Given the description of an element on the screen output the (x, y) to click on. 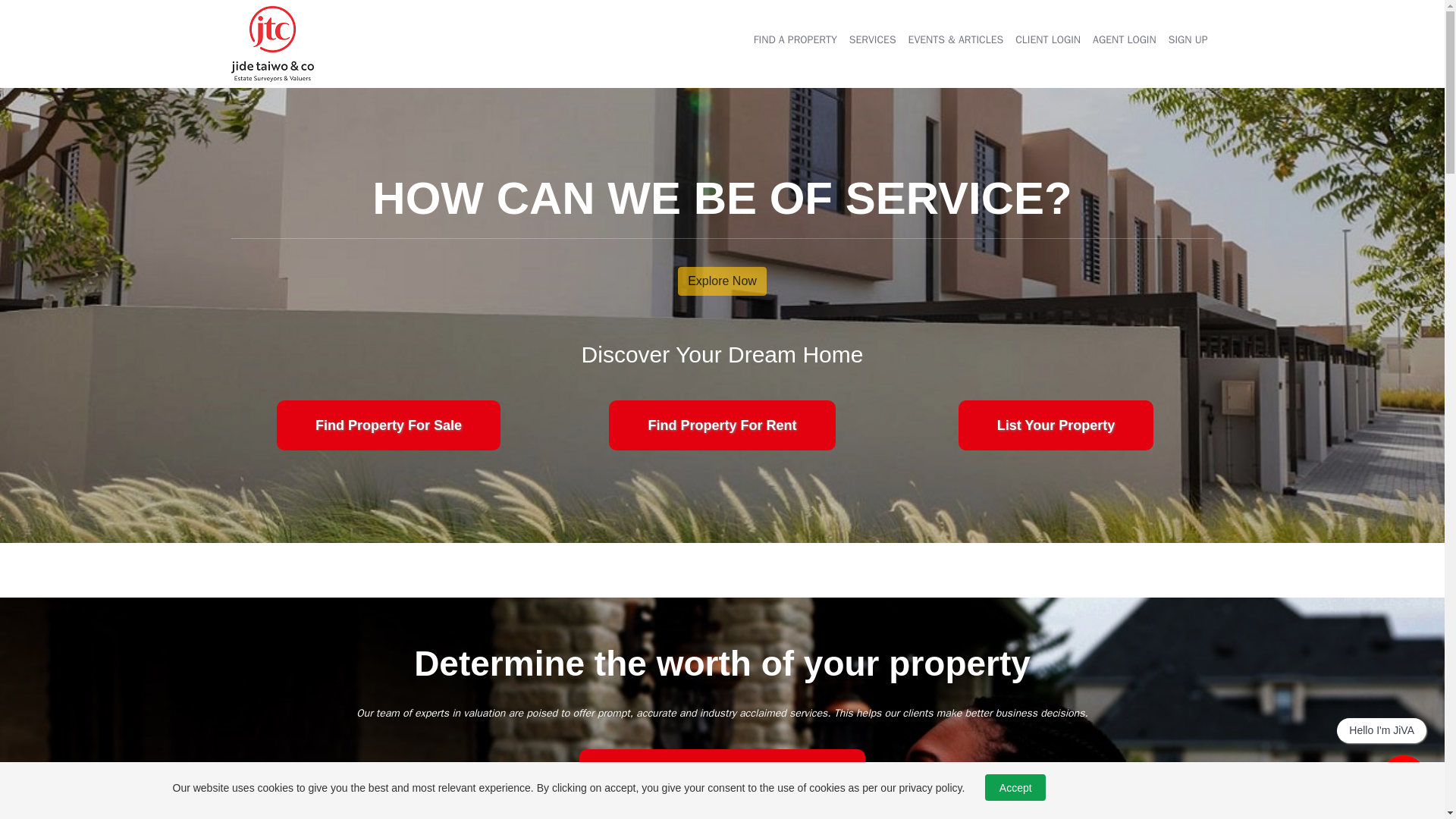
SIGN UP (1187, 39)
Accept (1015, 786)
SERVICES (872, 39)
Find Property For Sale (388, 425)
Book a virtual meeting appointment (721, 772)
CLIENT LOGIN (1047, 39)
AGENT LOGIN (1123, 39)
Find Property For Rent (721, 425)
Explore Now (722, 280)
List Your Property (1055, 425)
FIND A PROPERTY (795, 39)
